Given the description of an element on the screen output the (x, y) to click on. 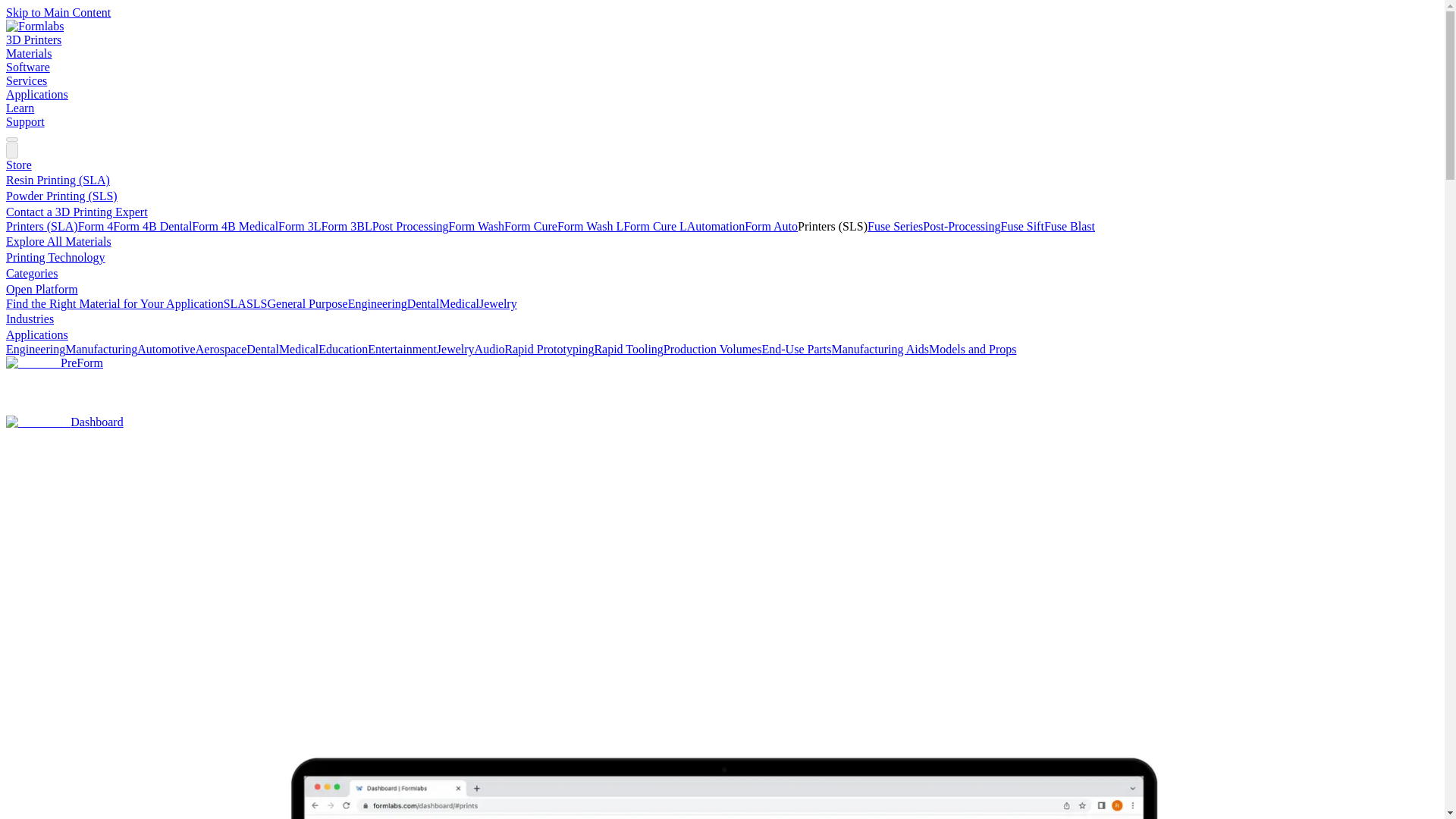
Form Wash L (590, 226)
Form 4 (95, 226)
Automation (715, 226)
Fuse Blast (1068, 226)
Post-Processing (961, 226)
Store (18, 164)
Form Cure L (655, 226)
Services (25, 80)
3D Printers (33, 39)
Form Cure (530, 226)
Fuse Series (895, 226)
SLS (256, 303)
Form 3L (299, 226)
Software (27, 66)
Form Auto (770, 226)
